Given the description of an element on the screen output the (x, y) to click on. 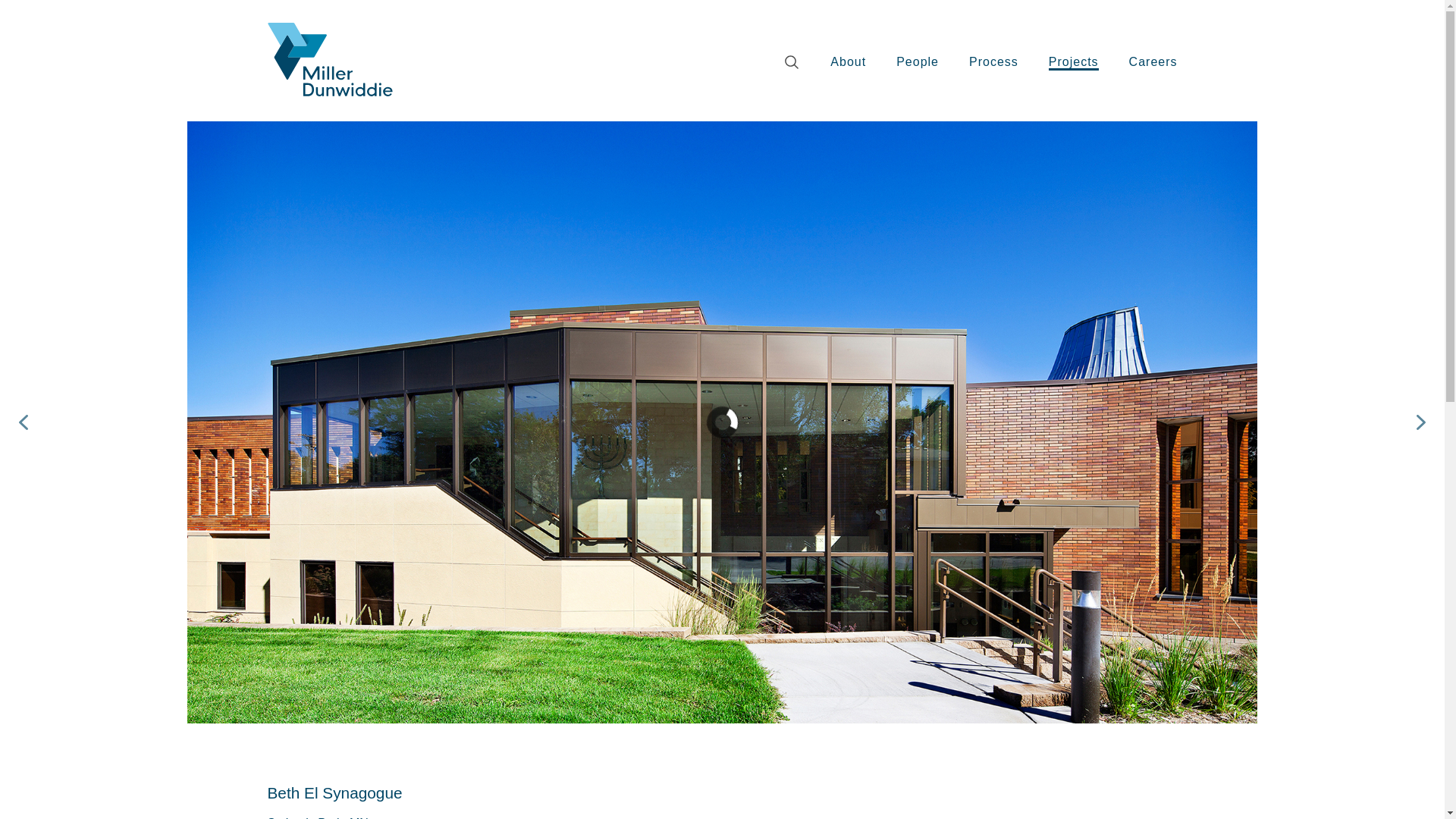
About (847, 62)
Careers (1153, 62)
Projects (1073, 62)
Process (993, 62)
People (917, 62)
